Given the description of an element on the screen output the (x, y) to click on. 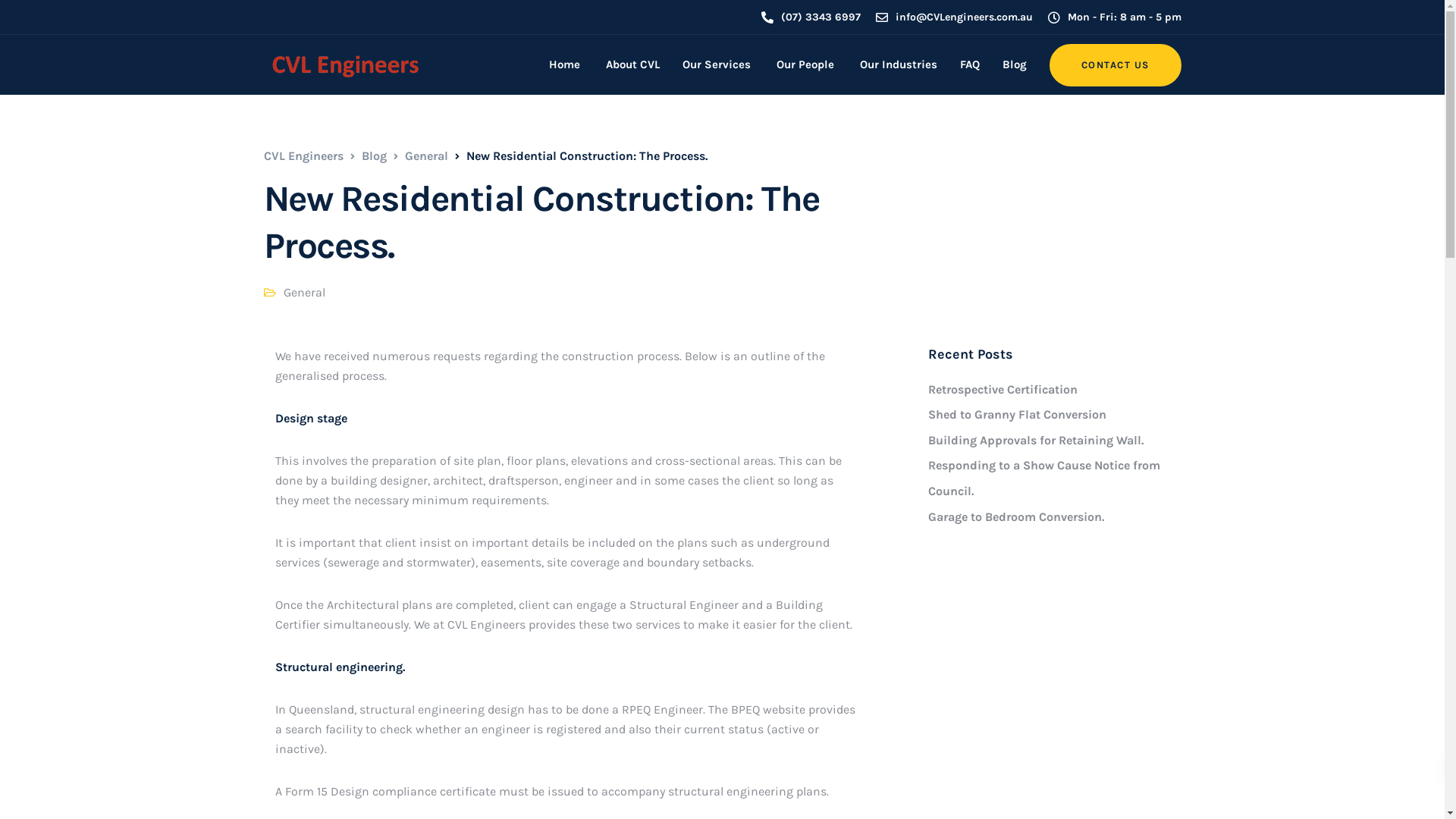
 Our Industries Element type: text (895, 64)
Retrospective Certification Element type: text (1002, 389)
info@CVLengineers.com.au Element type: text (966, 16)
(07) 3343 6997 Element type: text (824, 16)
CVL Engineers Element type: text (303, 155)
 Our People Element type: text (802, 64)
Our Services Element type: text (715, 64)
 Home Element type: text (561, 64)
General Element type: text (426, 155)
Blog Element type: text (1013, 64)
CONTACT US Element type: text (1115, 64)
Shed to Granny Flat Conversion Element type: text (1017, 414)
Responding to a Show Cause Notice from Council. Element type: text (1044, 478)
Blog Element type: text (372, 155)
General Element type: text (304, 292)
FAQ Element type: text (968, 64)
Garage to Bedroom Conversion. Element type: text (1016, 516)
Building Approvals for Retaining Wall. Element type: text (1035, 440)
 About CVL Element type: text (631, 64)
